Given the description of an element on the screen output the (x, y) to click on. 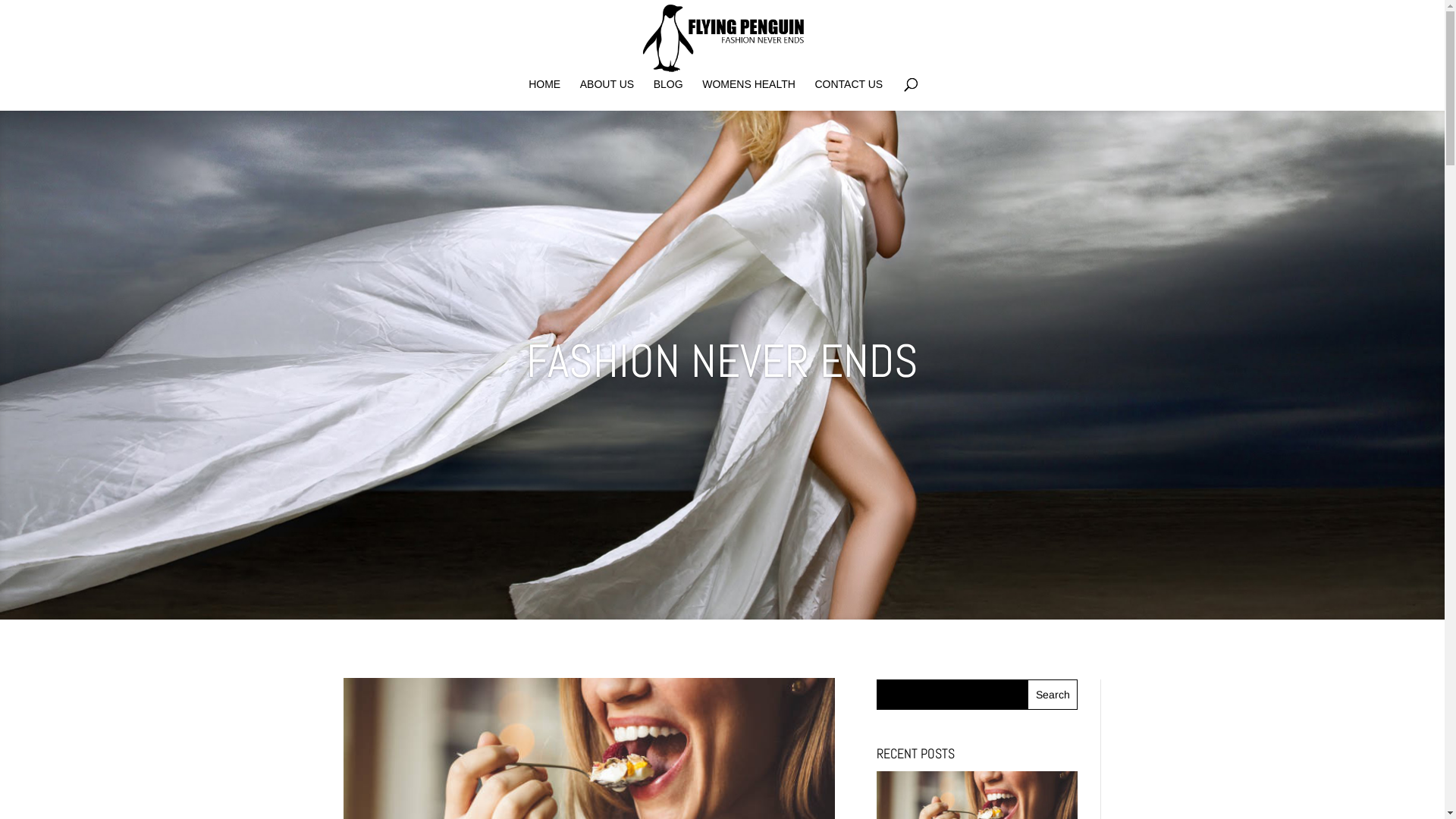
ABOUT US Element type: text (606, 94)
BLOG Element type: text (668, 94)
CONTACT US Element type: text (848, 94)
HOME Element type: text (544, 94)
WOMENS HEALTH Element type: text (748, 94)
Search Element type: text (1052, 694)
